Given the description of an element on the screen output the (x, y) to click on. 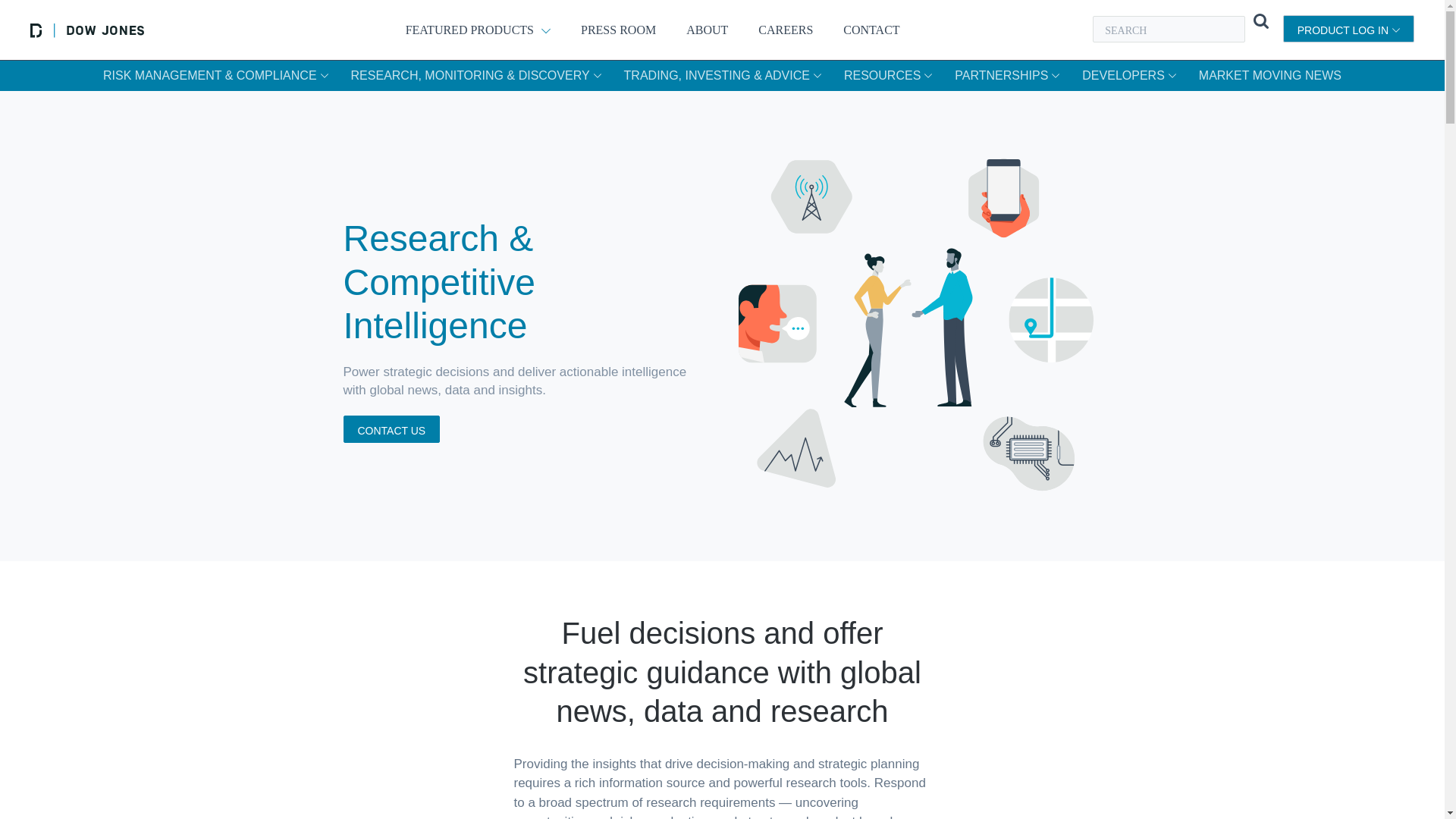
CAREERS (785, 29)
ABOUT (706, 29)
PRESS ROOM (618, 29)
FEATURED PRODUCTS (478, 29)
PRODUCT LOG IN (1347, 28)
CONTACT (871, 29)
